Given the description of an element on the screen output the (x, y) to click on. 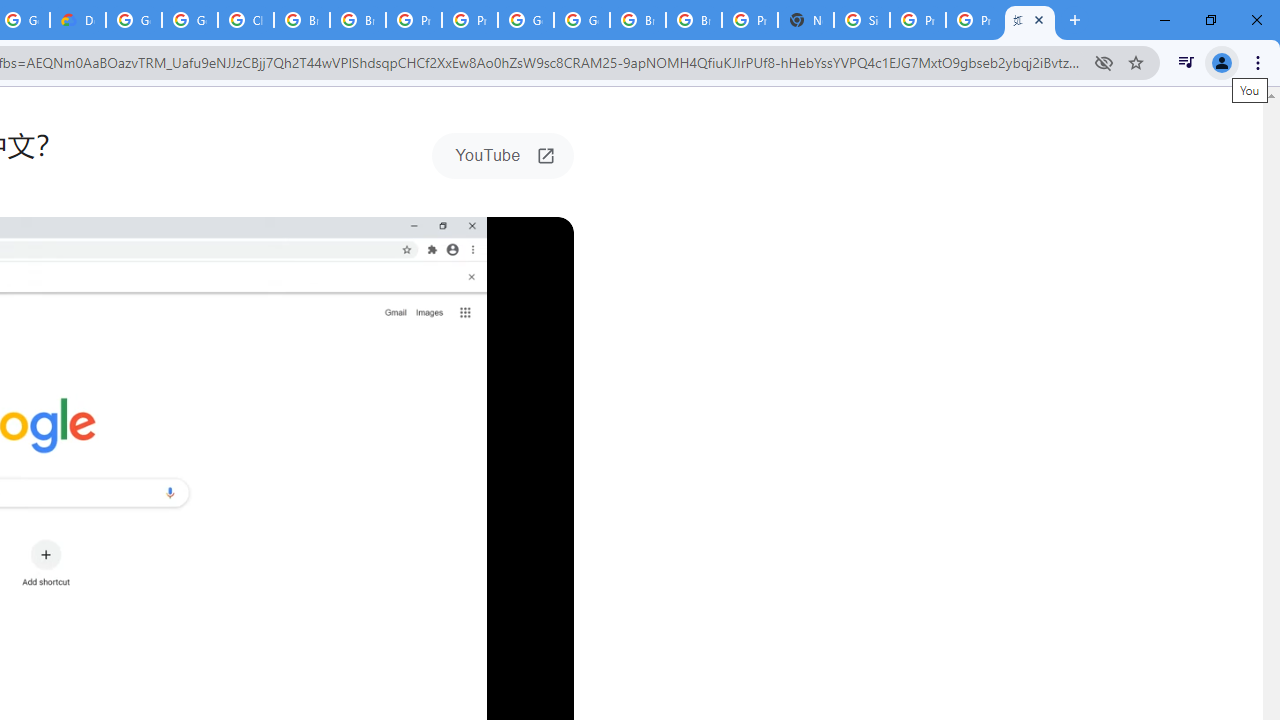
You (1221, 62)
Control your music, videos, and more (1185, 62)
Bookmark this tab (1135, 62)
Google Cloud Platform (134, 20)
Browse Chrome as a guest - Computer - Google Chrome Help (358, 20)
Restore (1210, 20)
New Tab (1075, 20)
Browse Chrome as a guest - Computer - Google Chrome Help (693, 20)
